Given the description of an element on the screen output the (x, y) to click on. 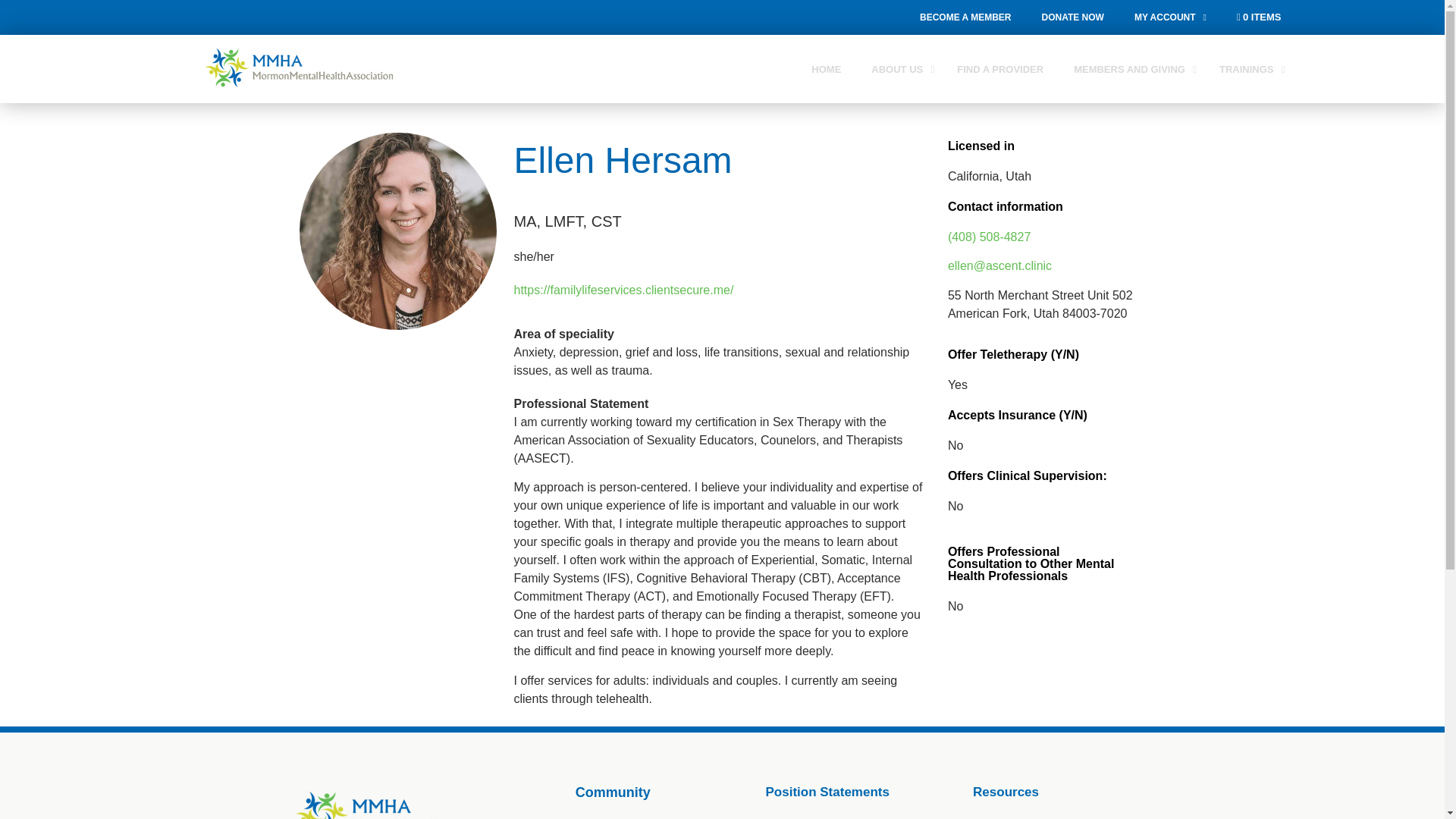
HOME (826, 69)
ABOUT US (899, 69)
TRAININGS (1248, 69)
Start shopping (1259, 17)
FIND A PROVIDER (1000, 69)
0 ITEMS (1259, 17)
DONATE NOW (1072, 17)
MEMBERS AND GIVING (1131, 69)
MY ACCOUNT (1170, 17)
BECOME A MEMBER (965, 17)
